Given the description of an element on the screen output the (x, y) to click on. 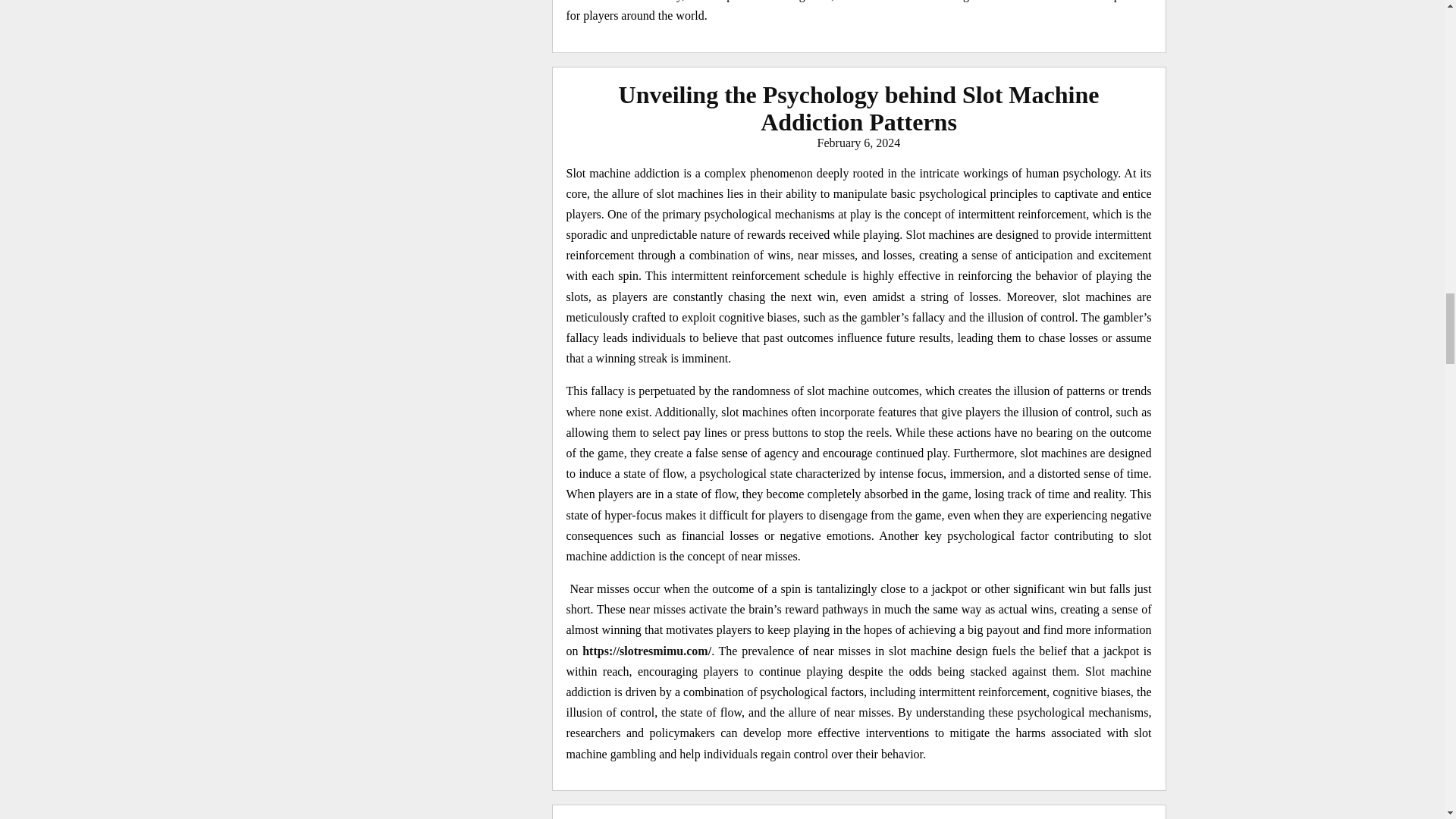
February 6, 2024 (858, 142)
